Given the description of an element on the screen output the (x, y) to click on. 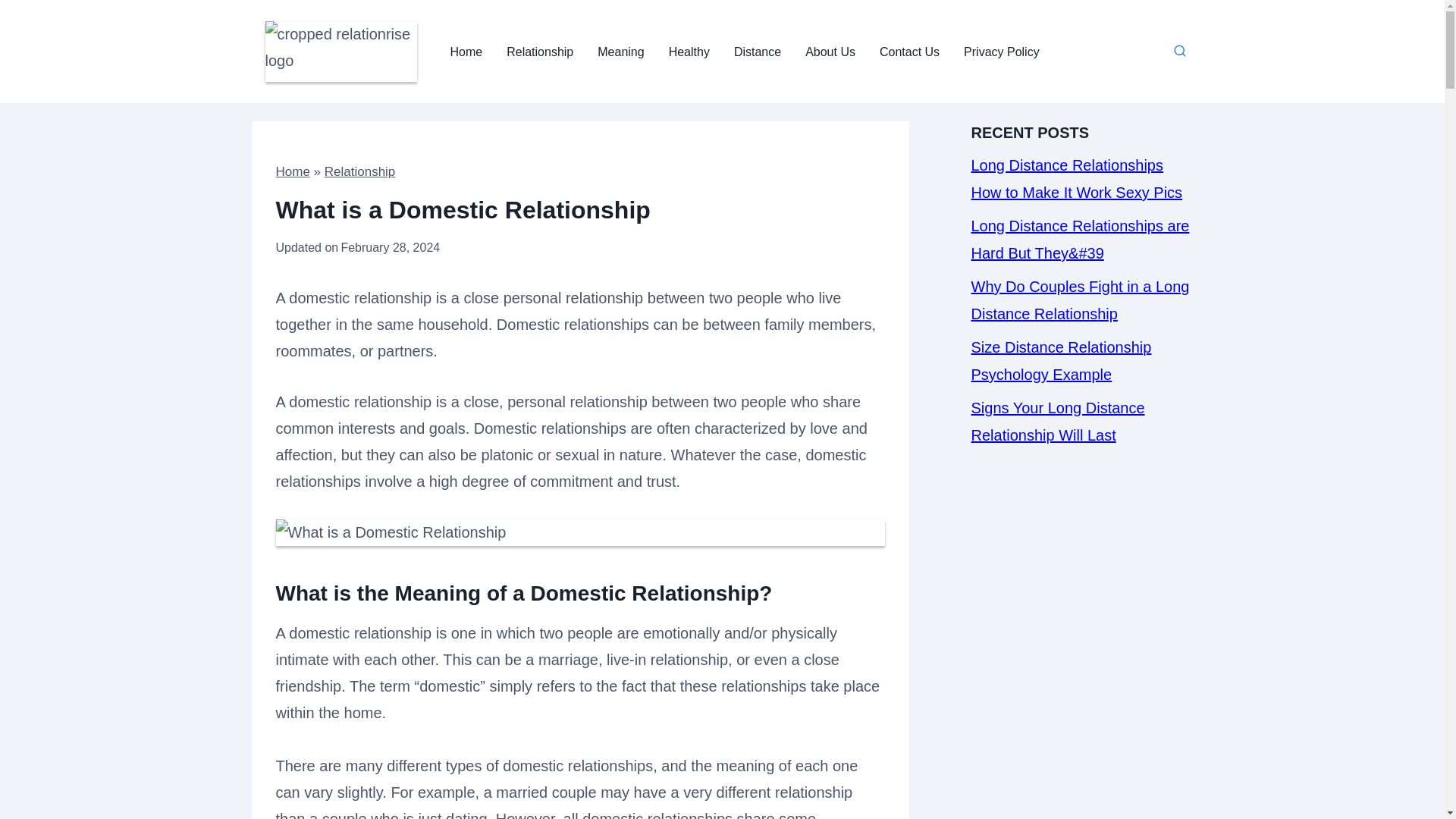
Home (293, 171)
Home (466, 51)
Relationship (540, 51)
Meaning (620, 51)
Distance (757, 51)
Privacy Policy (1001, 51)
Healthy (689, 51)
About Us (830, 51)
Contact Us (909, 51)
Relationship (360, 171)
